Given the description of an element on the screen output the (x, y) to click on. 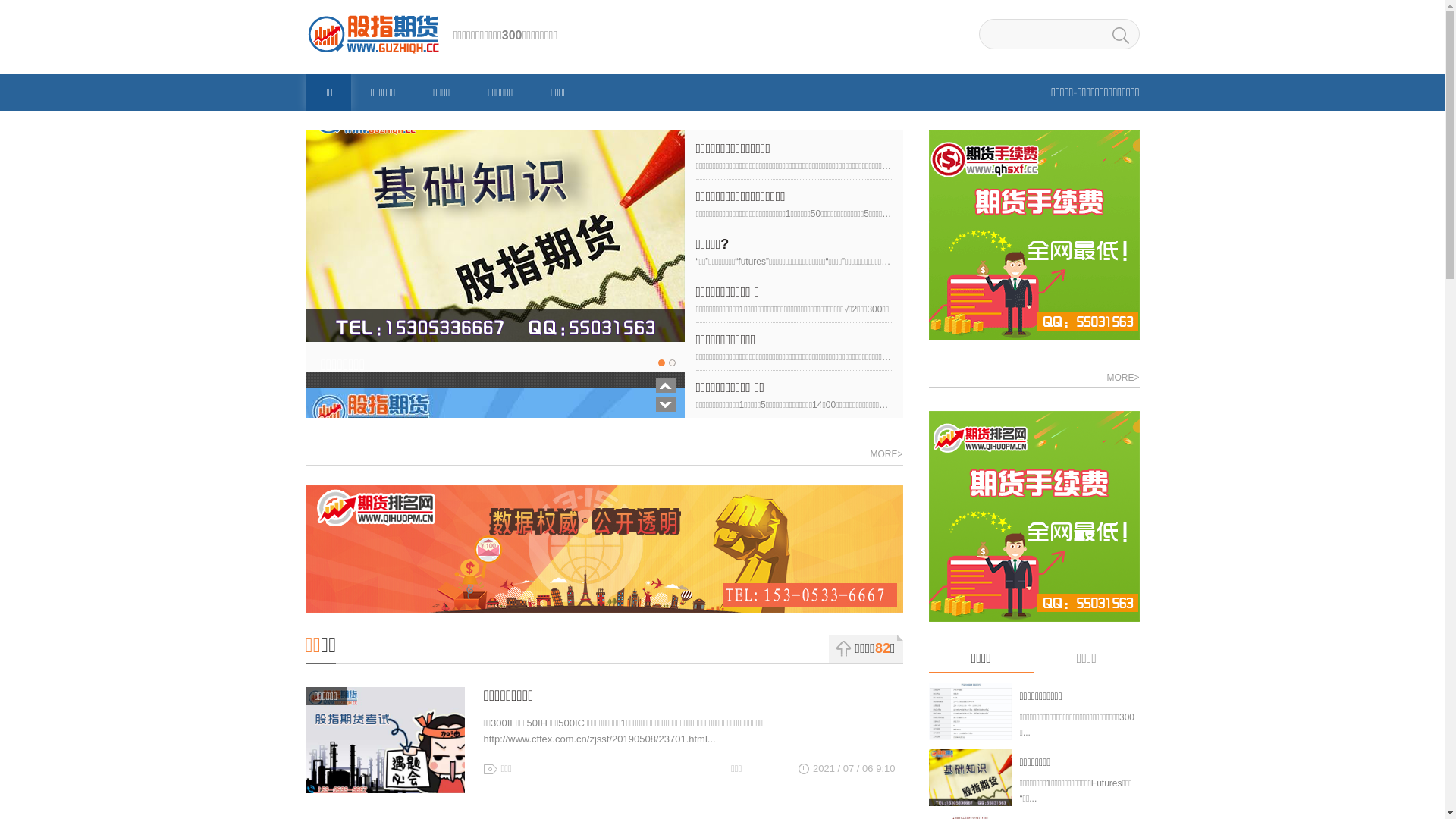
MORE> Element type: text (1122, 375)
2 Element type: text (671, 362)
1 Element type: text (661, 362)
MORE> Element type: text (885, 454)
